Given the description of an element on the screen output the (x, y) to click on. 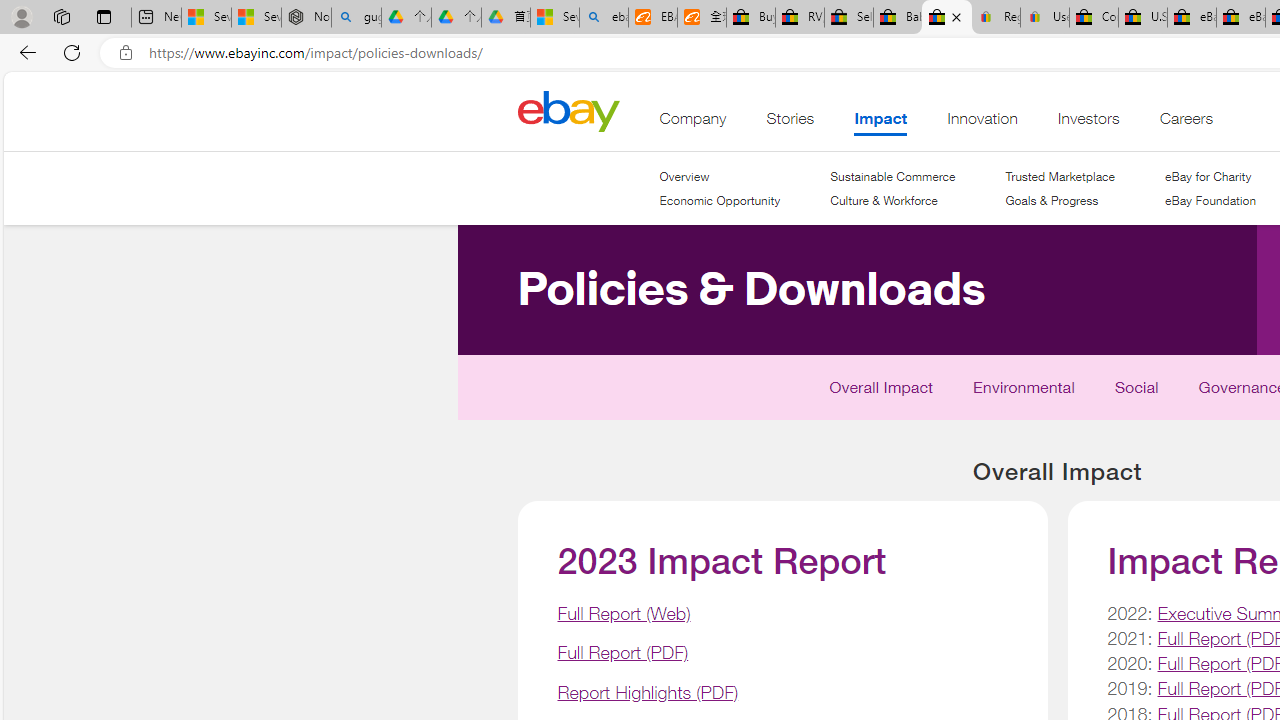
Company (693, 123)
Company (693, 123)
Stories (790, 123)
Investors (1088, 123)
Careers (1185, 123)
Goals & Progress (1059, 201)
Overview (719, 176)
Overall Impact (881, 391)
